Given the description of an element on the screen output the (x, y) to click on. 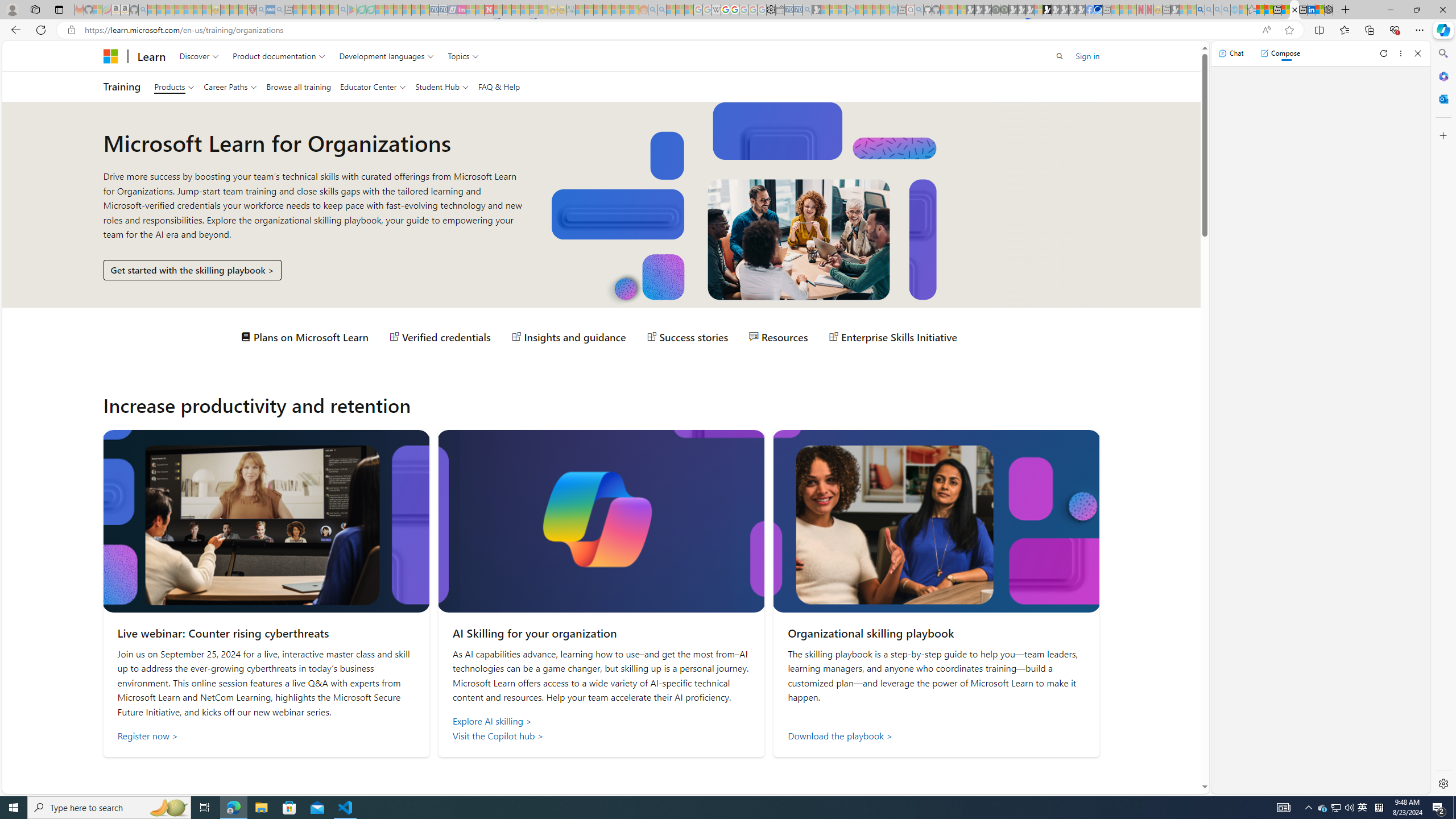
Skip to main content (10, 49)
FAQ & Help (499, 86)
Sign in to your account - Sleeping (1038, 9)
New Report Confirms 2023 Was Record Hot | Watch - Sleeping (188, 9)
Learn (151, 56)
